Given the description of an element on the screen output the (x, y) to click on. 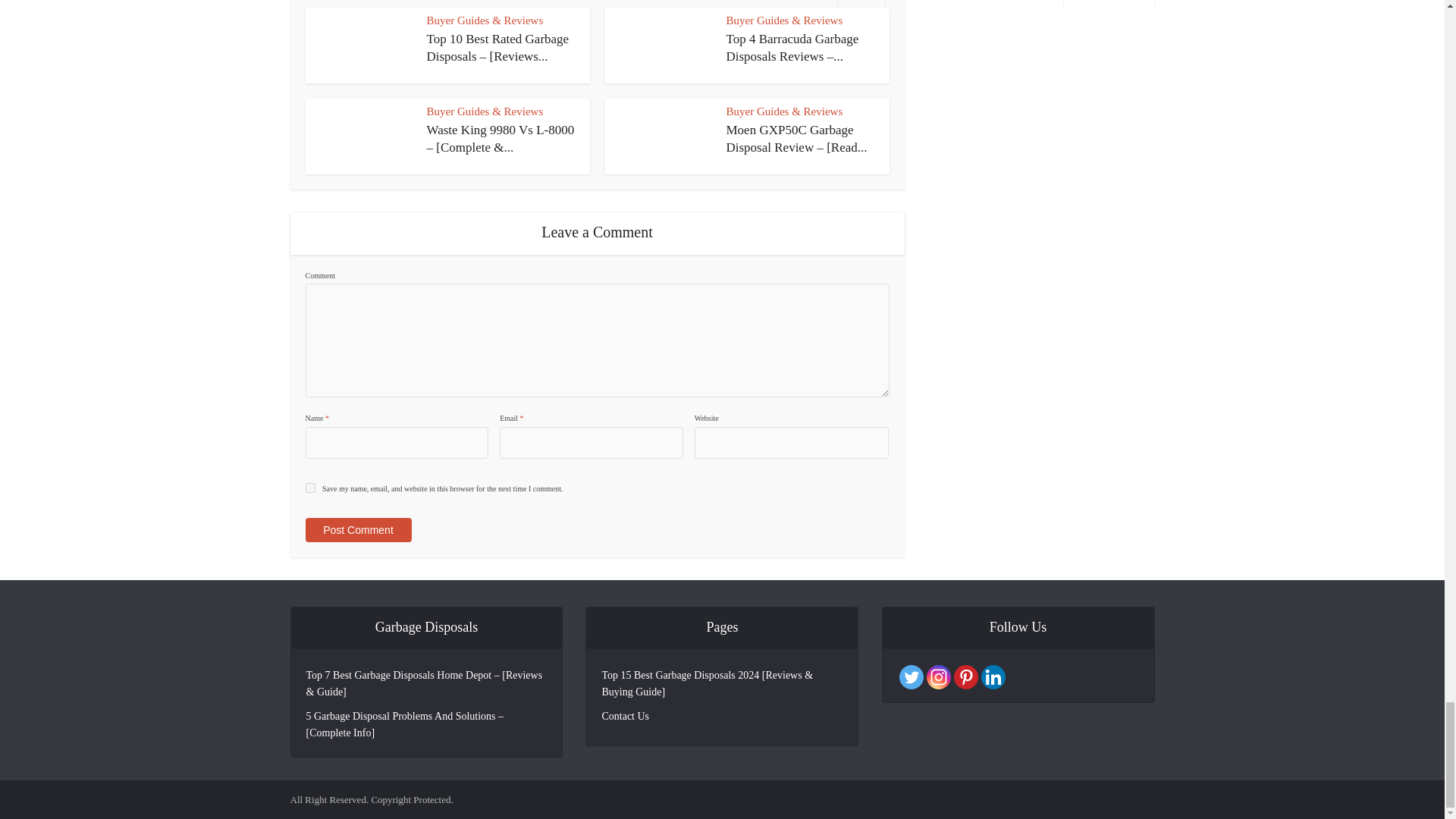
yes (309, 488)
Post Comment (357, 529)
